Given the description of an element on the screen output the (x, y) to click on. 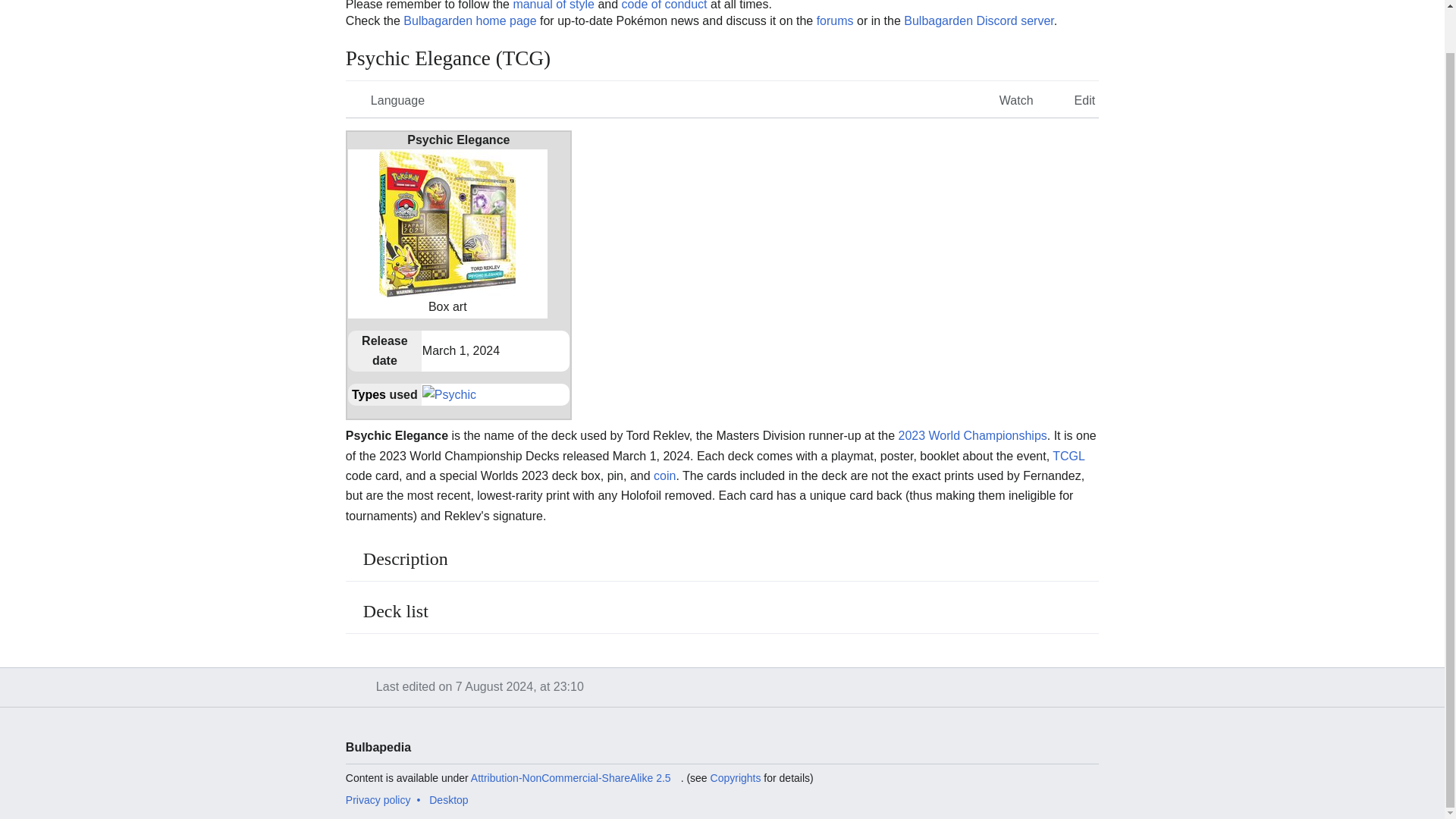
Watch (1005, 99)
Watch (1005, 99)
TCGL (1068, 455)
code of conduct (664, 5)
Types (368, 394)
Language (386, 99)
manual of style (553, 5)
coin (664, 475)
Edit the lead section of this page (1074, 99)
Edit (1074, 99)
